Given the description of an element on the screen output the (x, y) to click on. 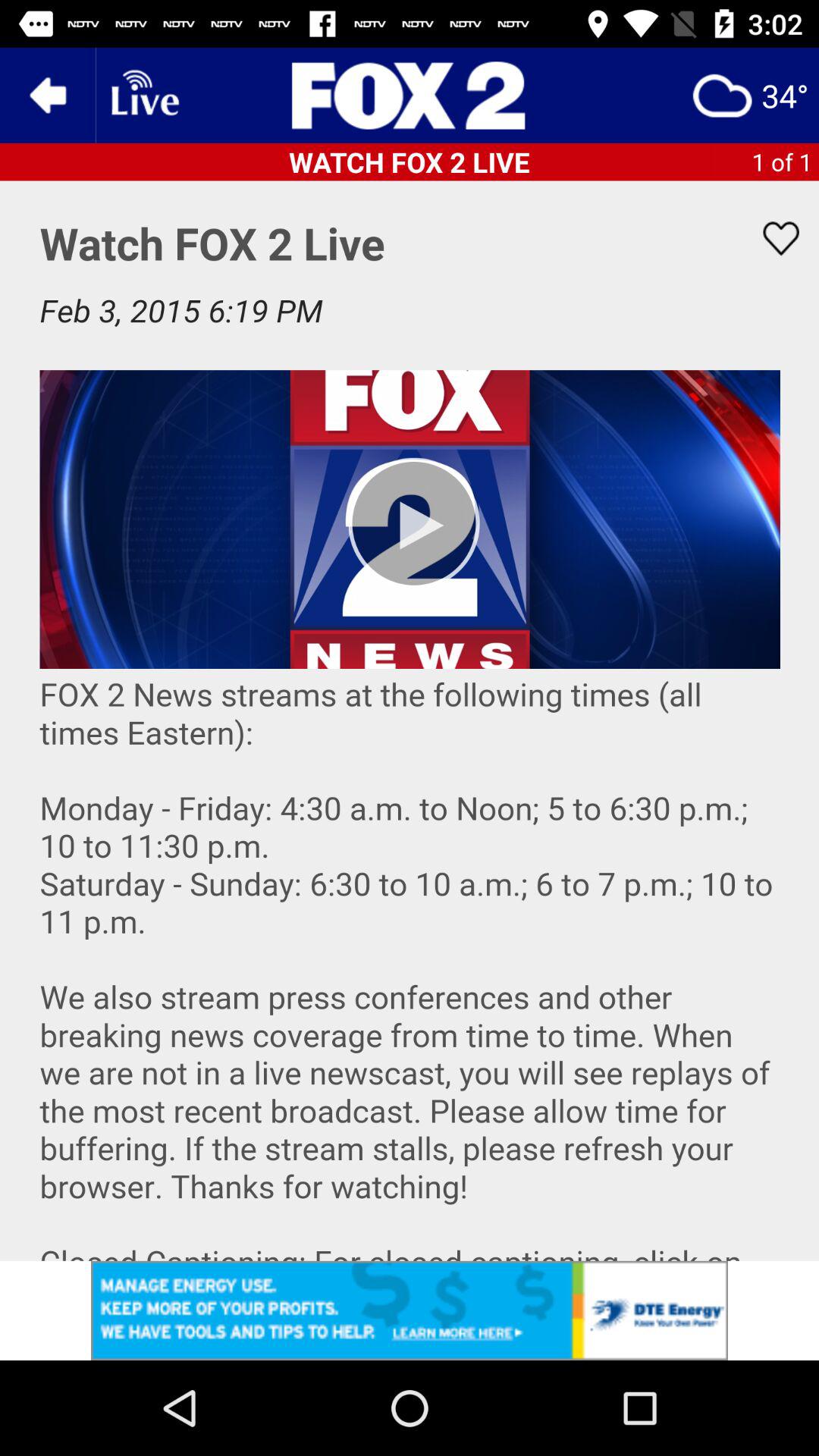
advertisement click (409, 1310)
